Given the description of an element on the screen output the (x, y) to click on. 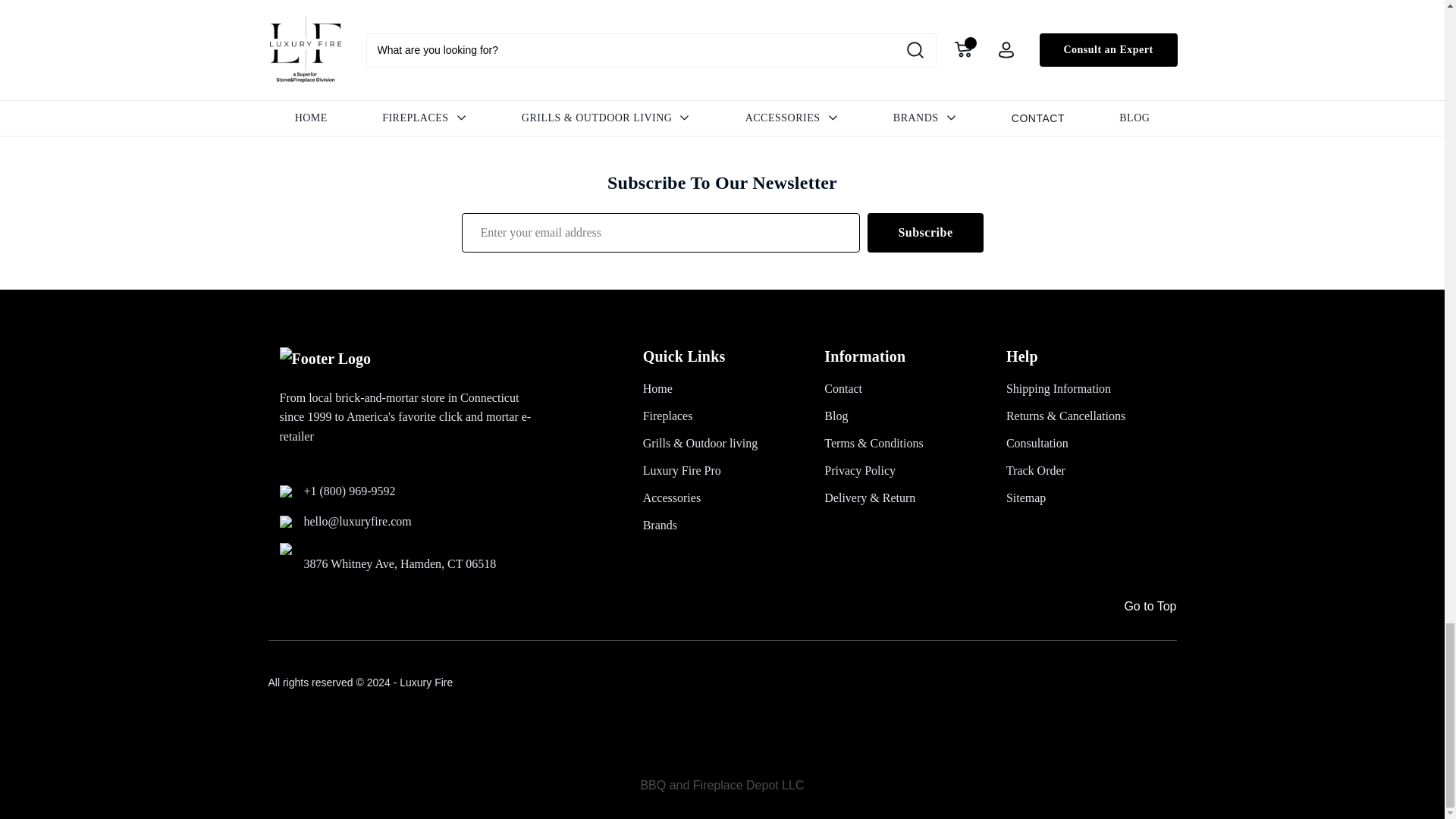
Subscribe (924, 232)
